Given the description of an element on the screen output the (x, y) to click on. 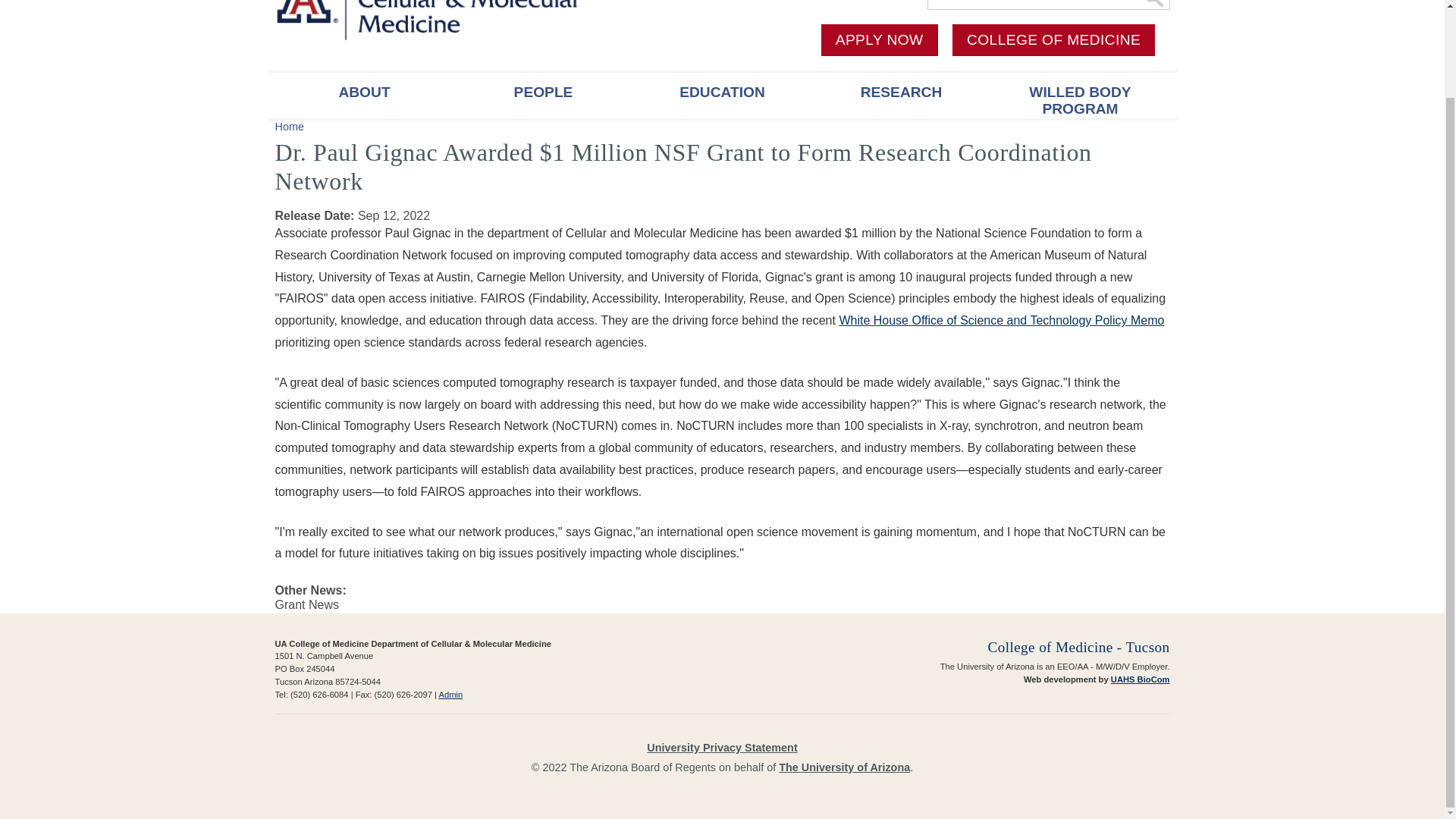
APPLY NOW (879, 40)
RESEARCH (900, 94)
EDUCATION (720, 94)
COLLEGE OF MEDICINE (1053, 40)
PEOPLE (541, 94)
ABOUT (363, 94)
